Given the description of an element on the screen output the (x, y) to click on. 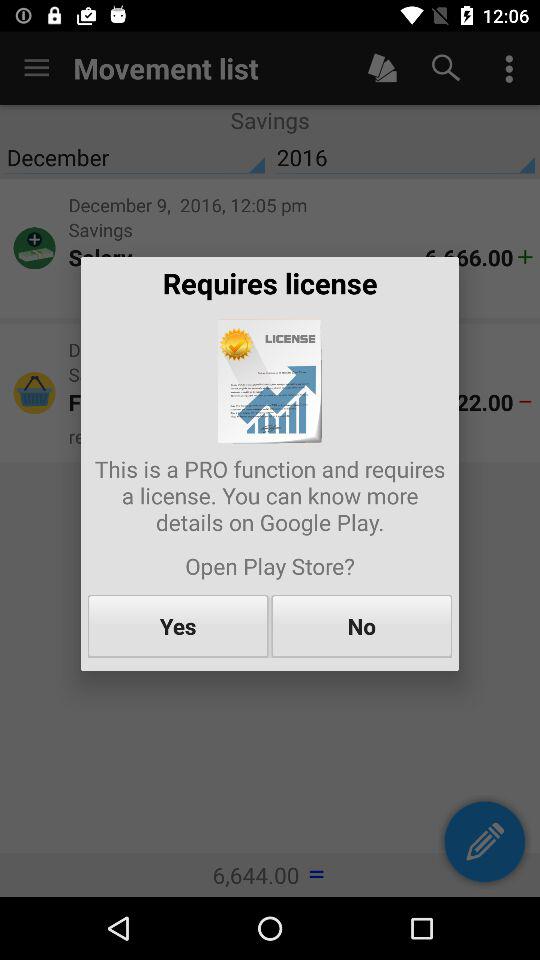
scroll until the yes icon (177, 625)
